Given the description of an element on the screen output the (x, y) to click on. 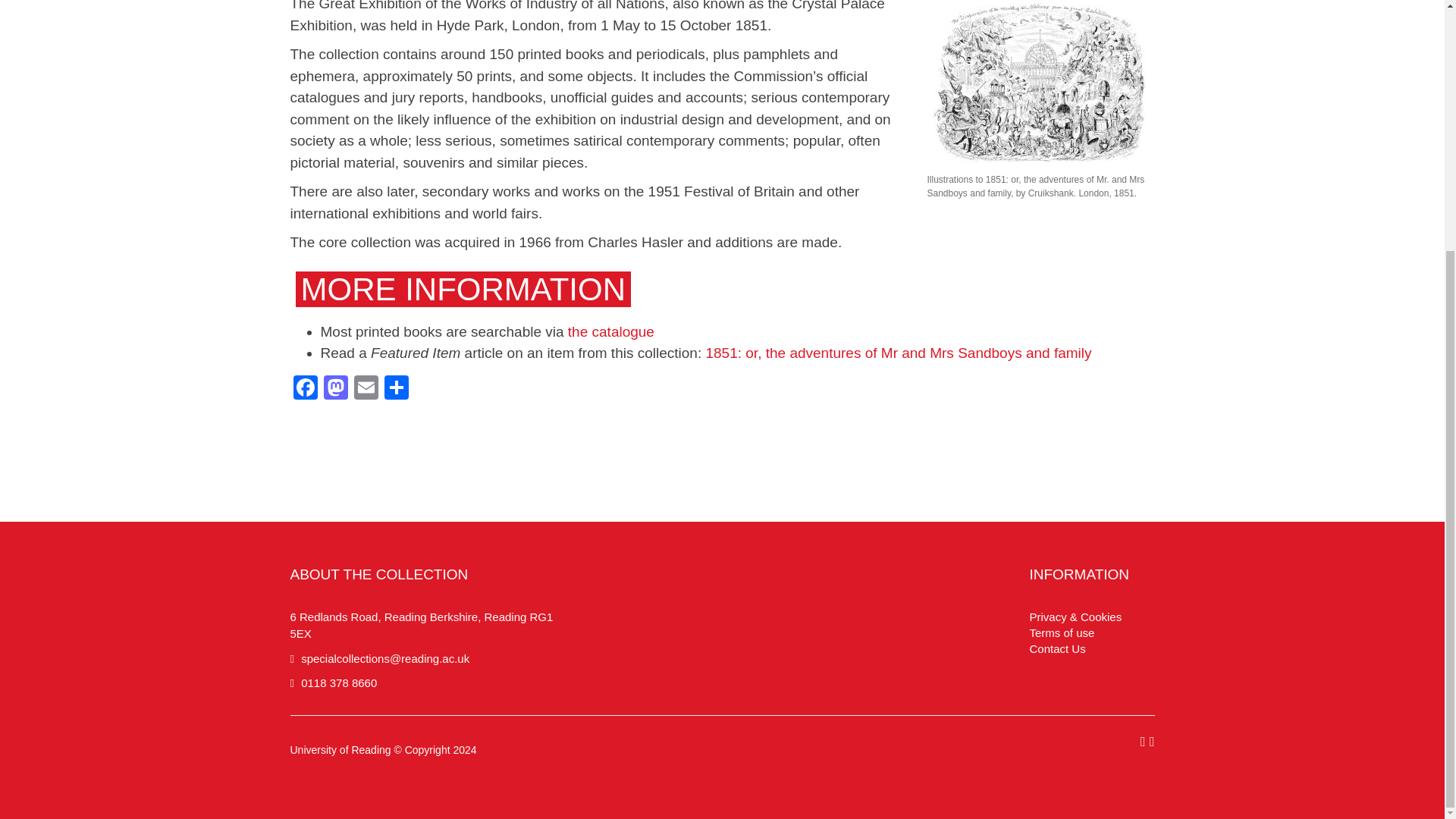
1851: or, the adventures of Mr and Mrs Sandboys and family (897, 352)
Mastodon (335, 389)
the catalogue (610, 331)
Email (365, 389)
Facebook (304, 389)
